Given the description of an element on the screen output the (x, y) to click on. 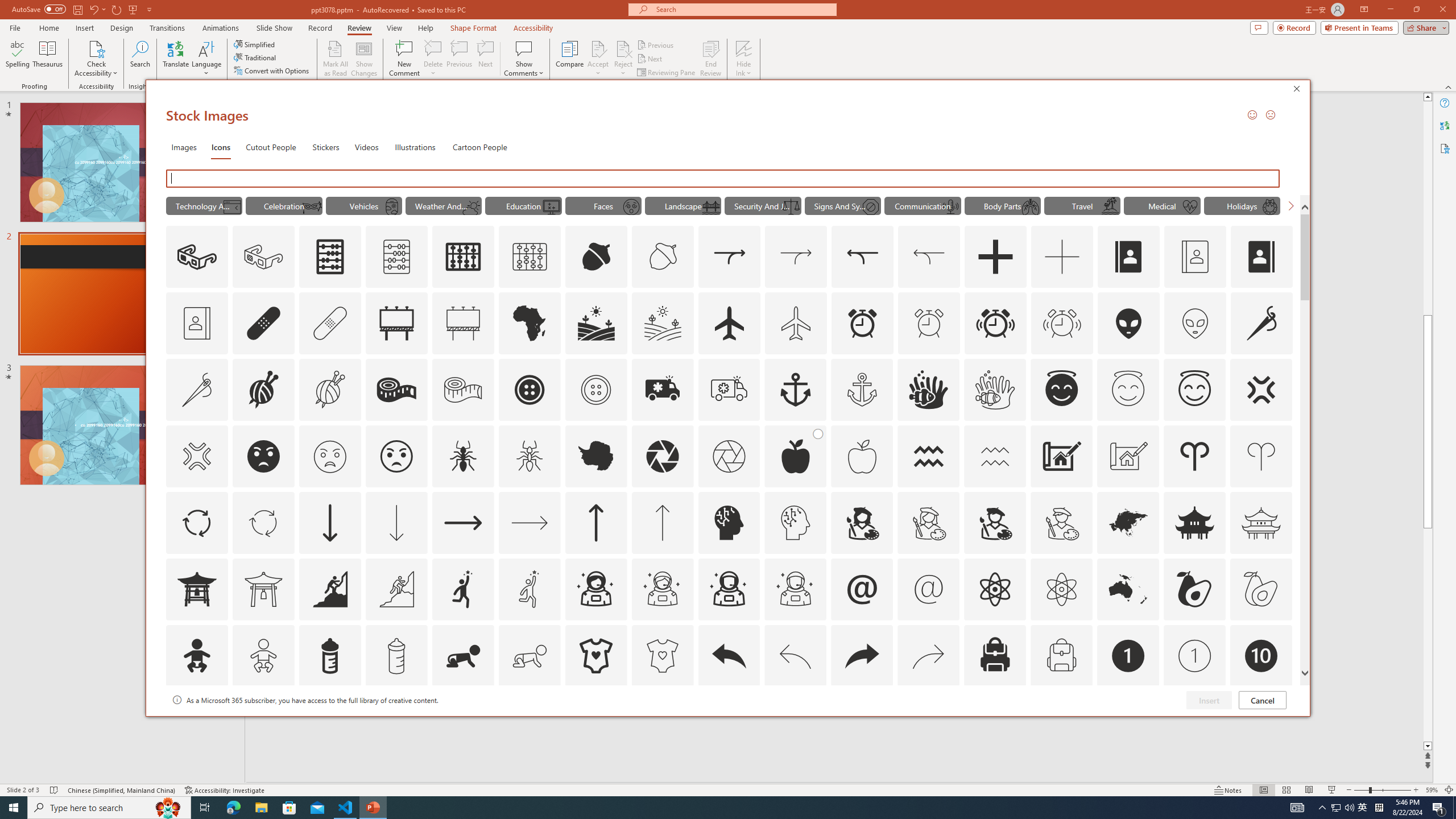
"Technology And Electronics" Icons. (203, 205)
AutomationID: Icons_Badge6 (795, 721)
outline (1194, 389)
AutomationID: Icons_AlienFace (1128, 323)
AutomationID: Icons_Abacus (330, 256)
Translate (175, 58)
